Given the description of an element on the screen output the (x, y) to click on. 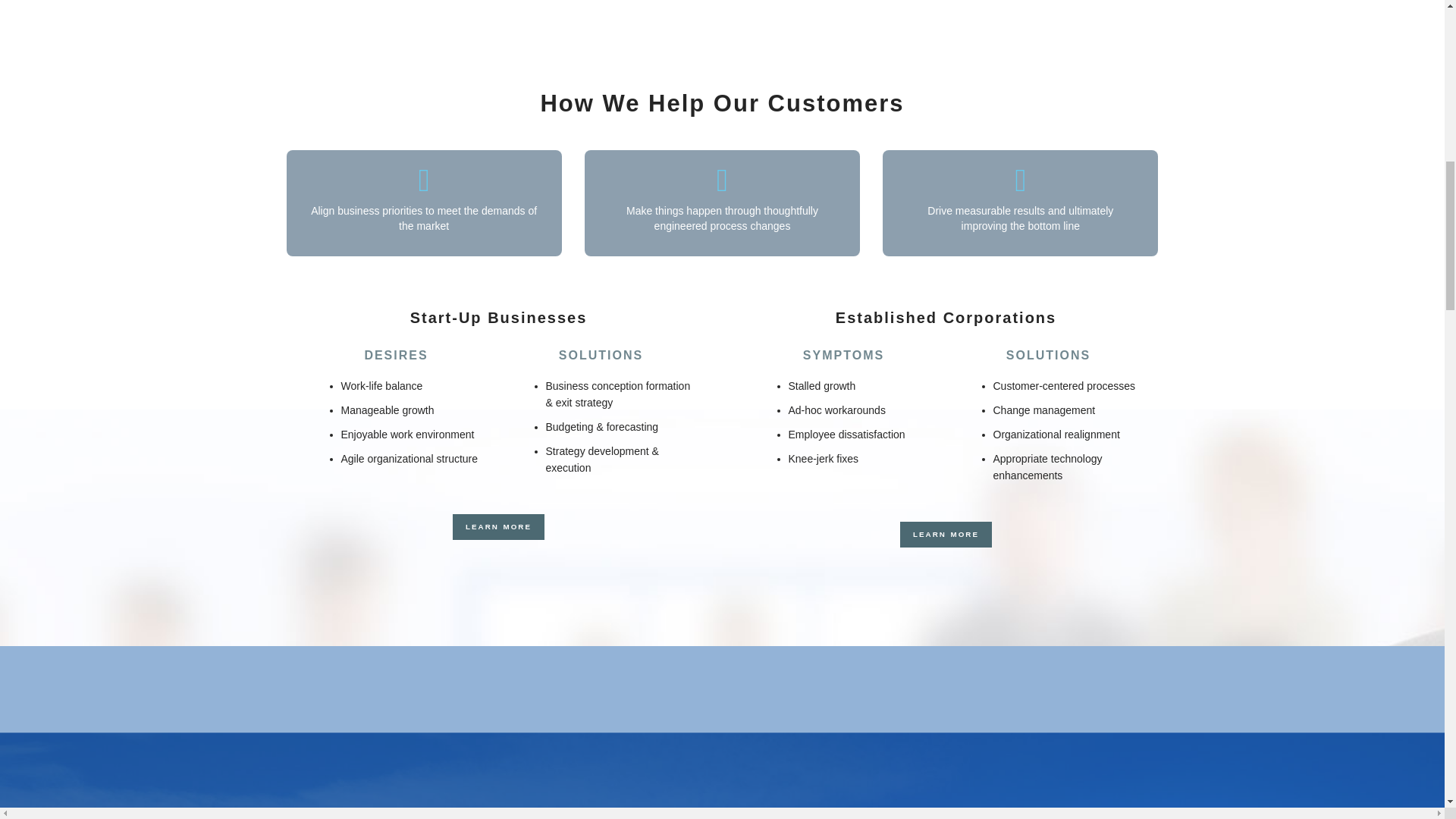
LEARN MORE (498, 527)
LEARN MORE (945, 534)
